Given the description of an element on the screen output the (x, y) to click on. 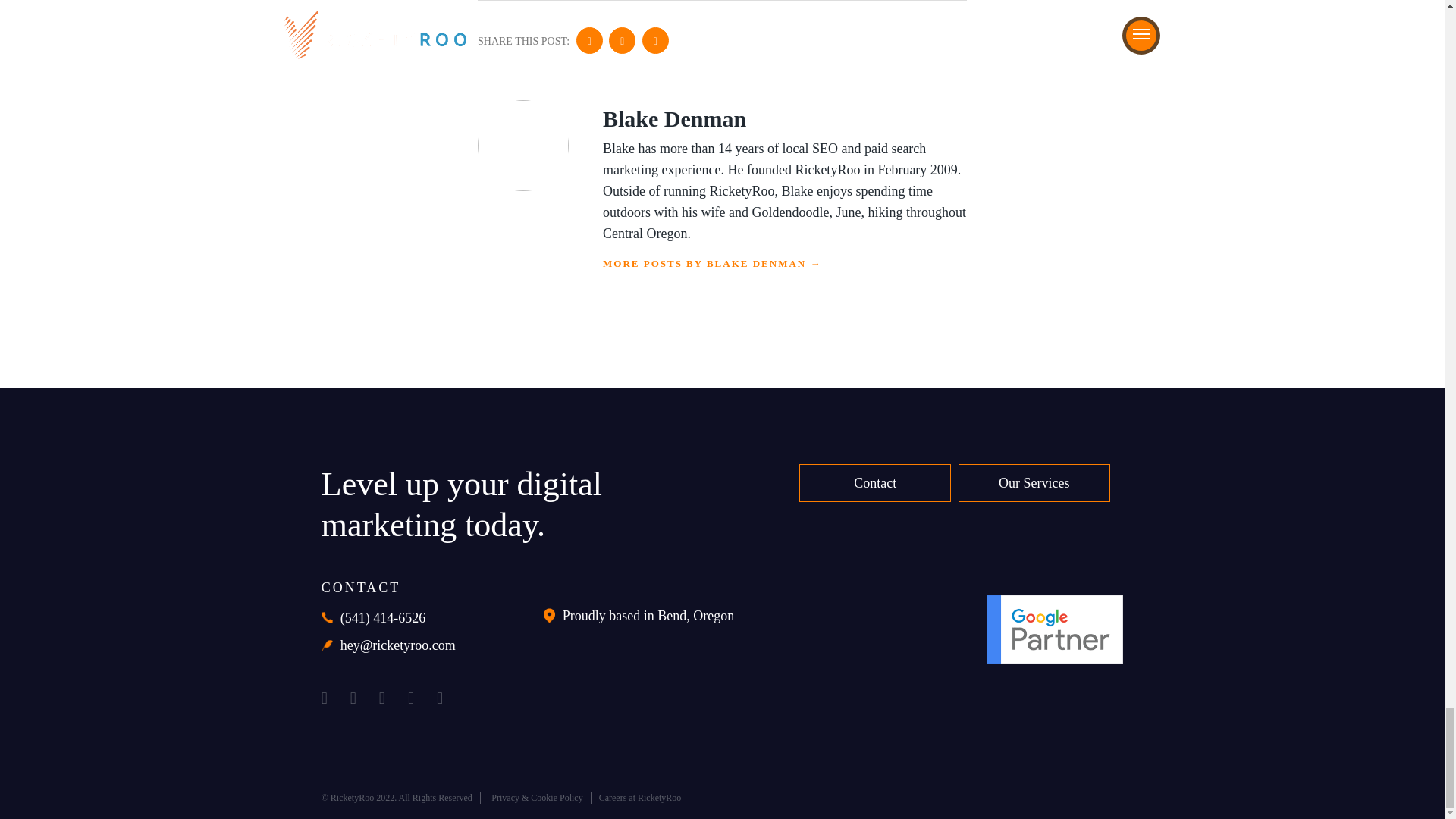
Contact (874, 483)
Our Services (1033, 483)
Share on Facebook (589, 40)
Tweet this (655, 40)
